Given the description of an element on the screen output the (x, y) to click on. 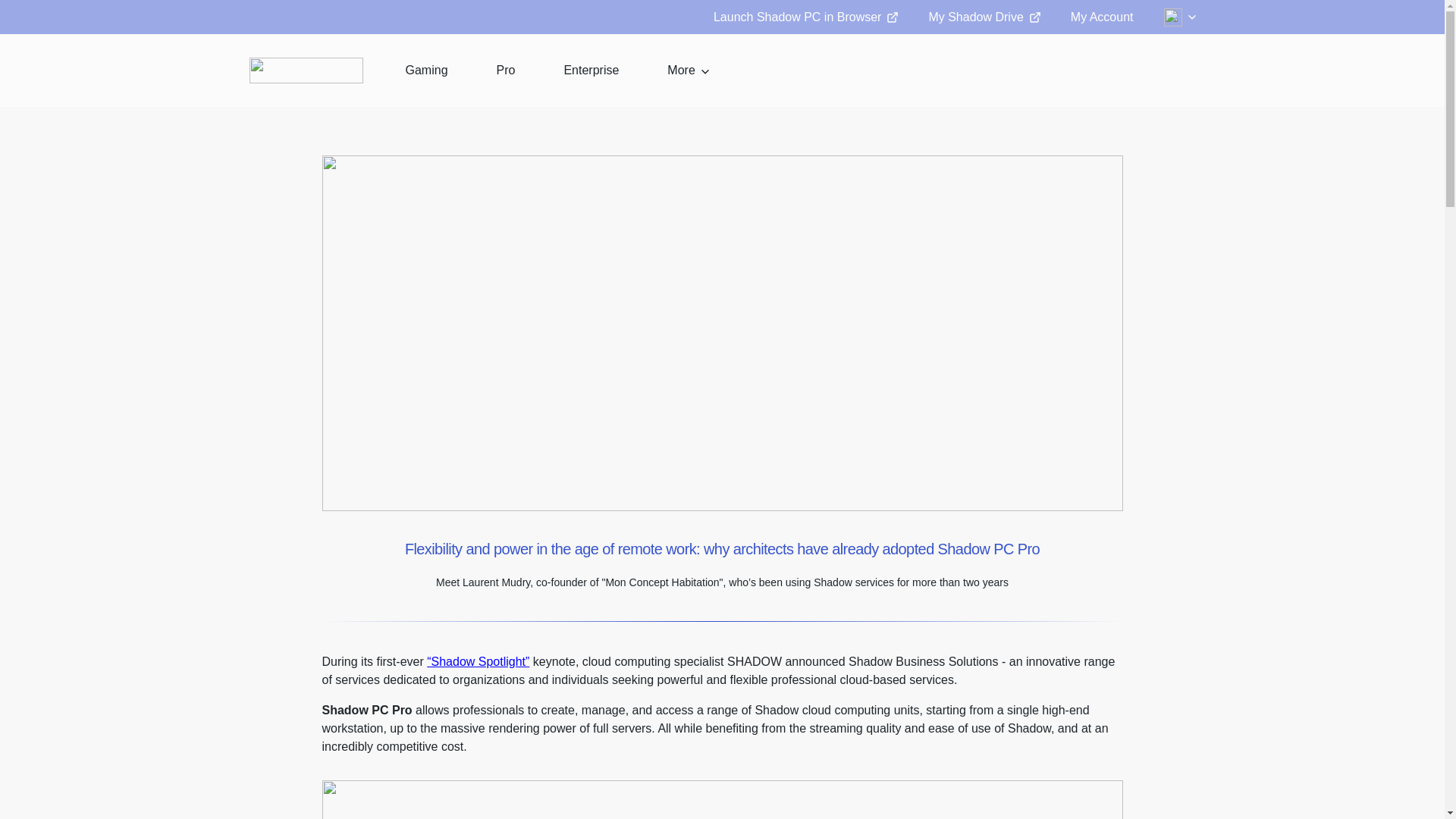
My Account (1102, 17)
My Shadow Drive (983, 17)
Gaming (426, 70)
My Account (1102, 17)
Enterprise (590, 70)
Pro (505, 70)
More (687, 70)
My Shadow Drive (983, 17)
Launch Shadow PC in Browser (805, 17)
Launch Shadow PC in Browser (805, 17)
